Given the description of an element on the screen output the (x, y) to click on. 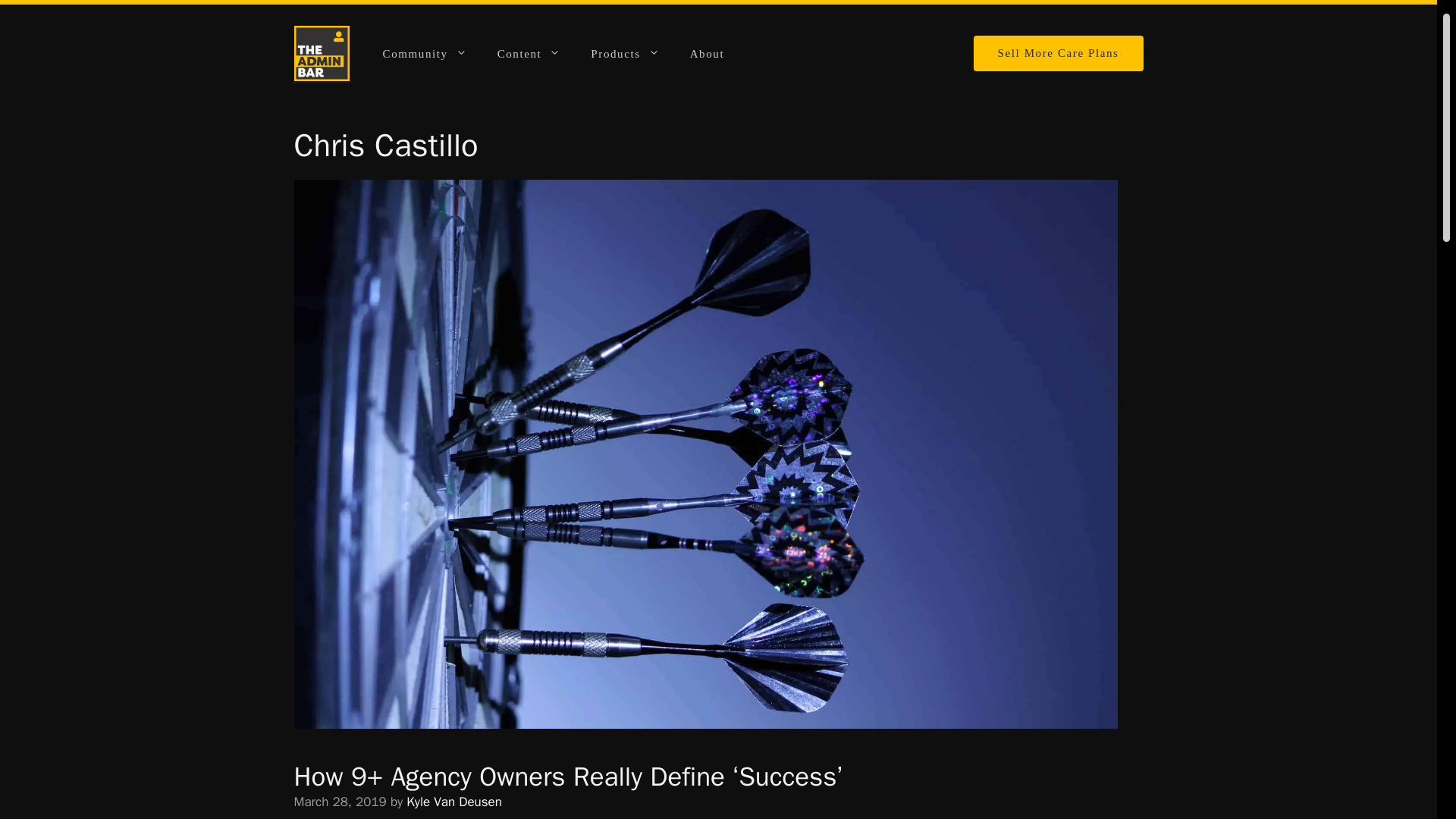
View all posts by Kyle Van Deusen (454, 801)
Content (528, 53)
Kyle Van Deusen (454, 801)
Sell More Care Plans (1058, 53)
Community (424, 53)
About (707, 53)
Products (624, 53)
